Given the description of an element on the screen output the (x, y) to click on. 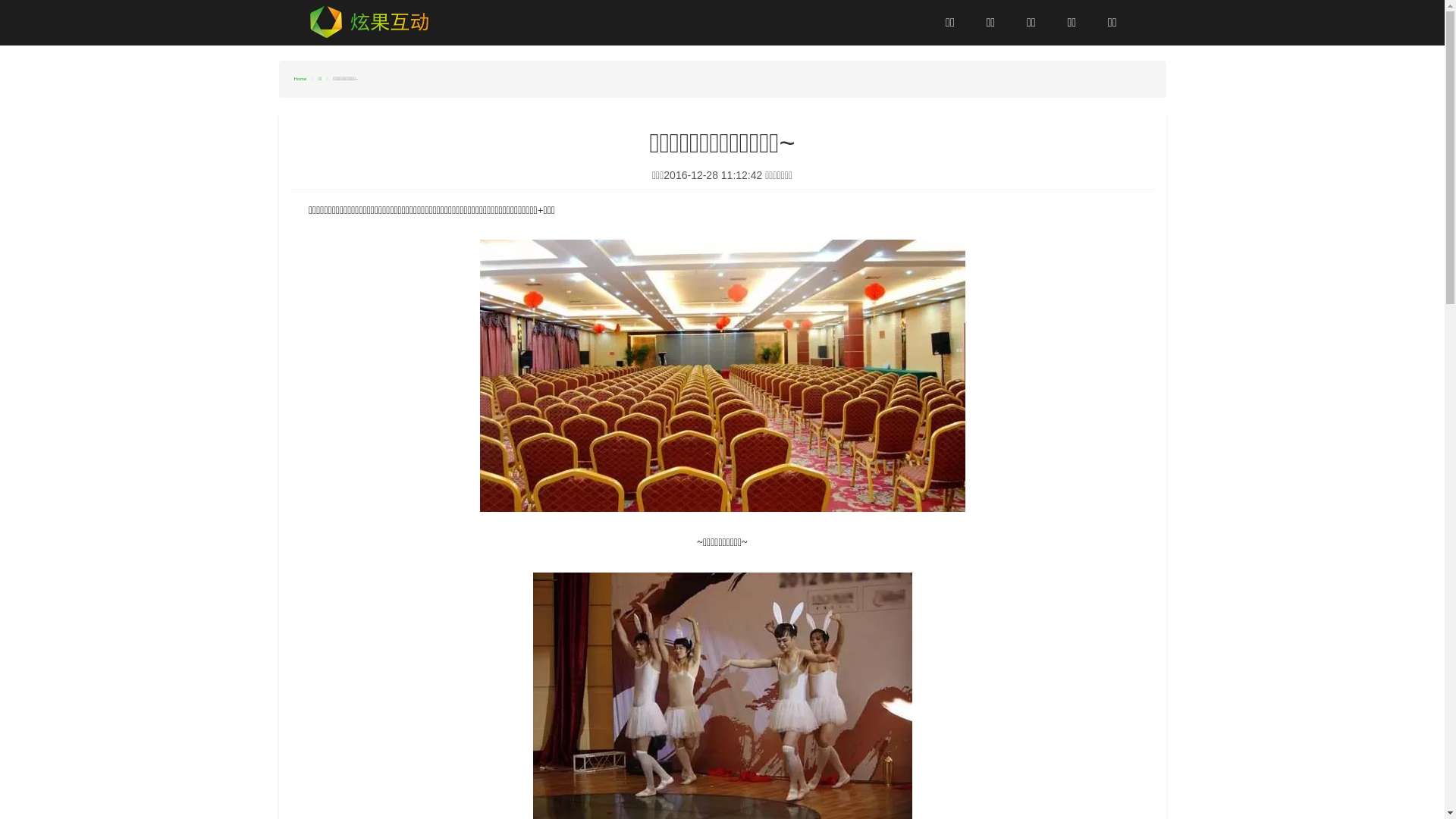
Home Element type: text (300, 78)
